Given the description of an element on the screen output the (x, y) to click on. 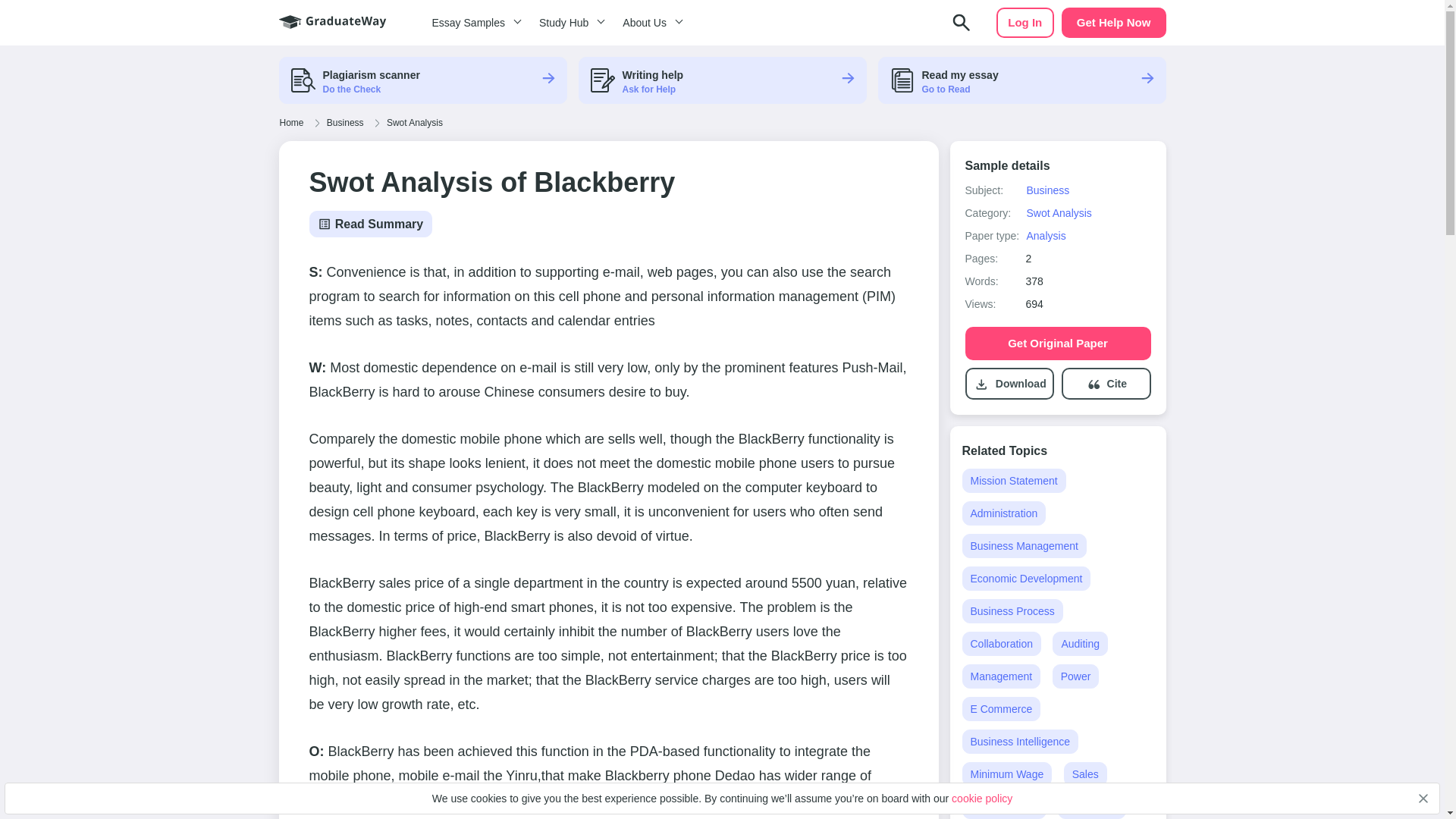
Analysis (1045, 235)
Swot Analysis (1058, 213)
Cite (1116, 383)
Essay Samples (473, 22)
Business (1047, 190)
Swot Analysis (414, 122)
About Us (649, 22)
Home (291, 122)
Study Hub (569, 22)
Business (345, 122)
